Given the description of an element on the screen output the (x, y) to click on. 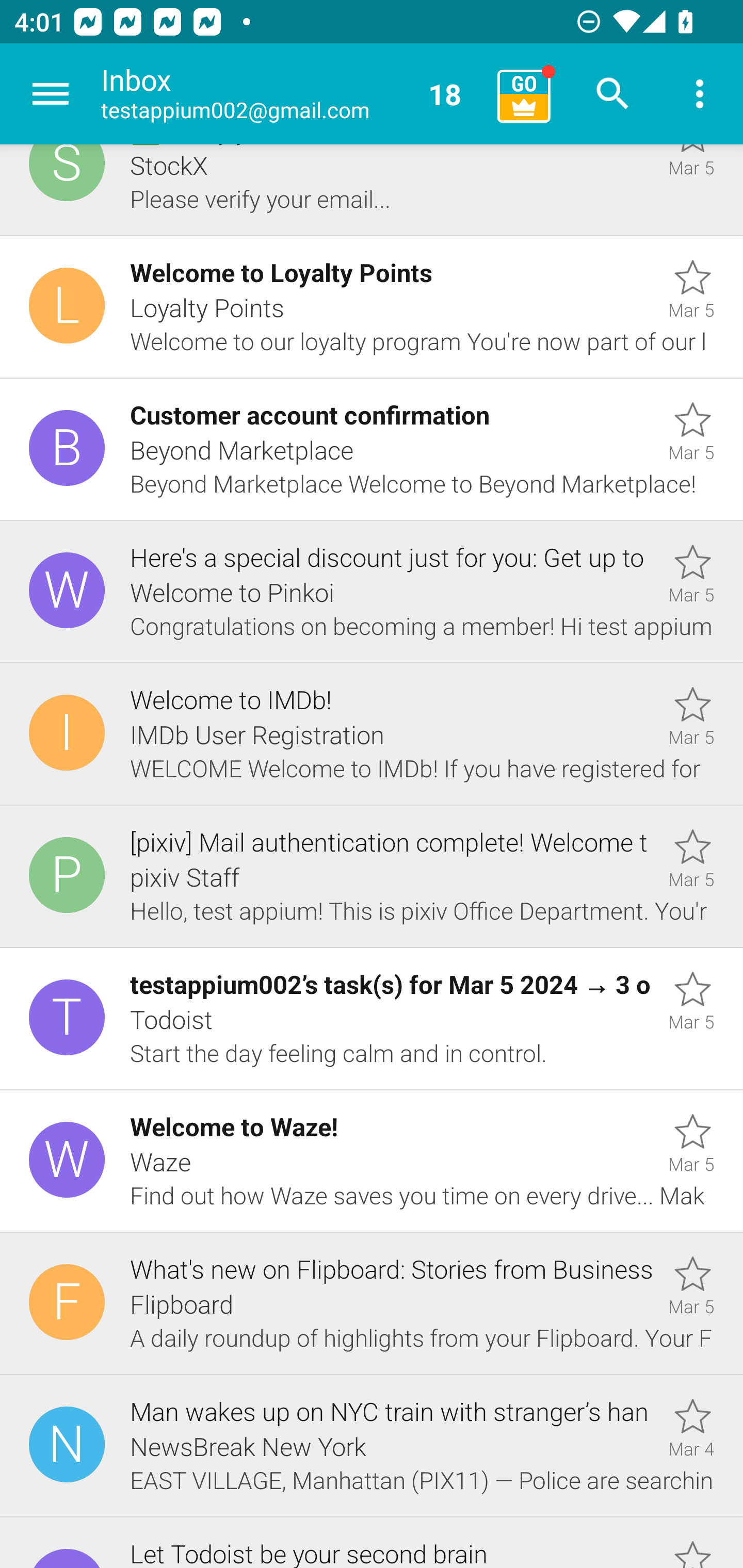
Navigate up (50, 93)
Inbox testappium002@gmail.com 18 (291, 93)
Search (612, 93)
More options (699, 93)
